Given the description of an element on the screen output the (x, y) to click on. 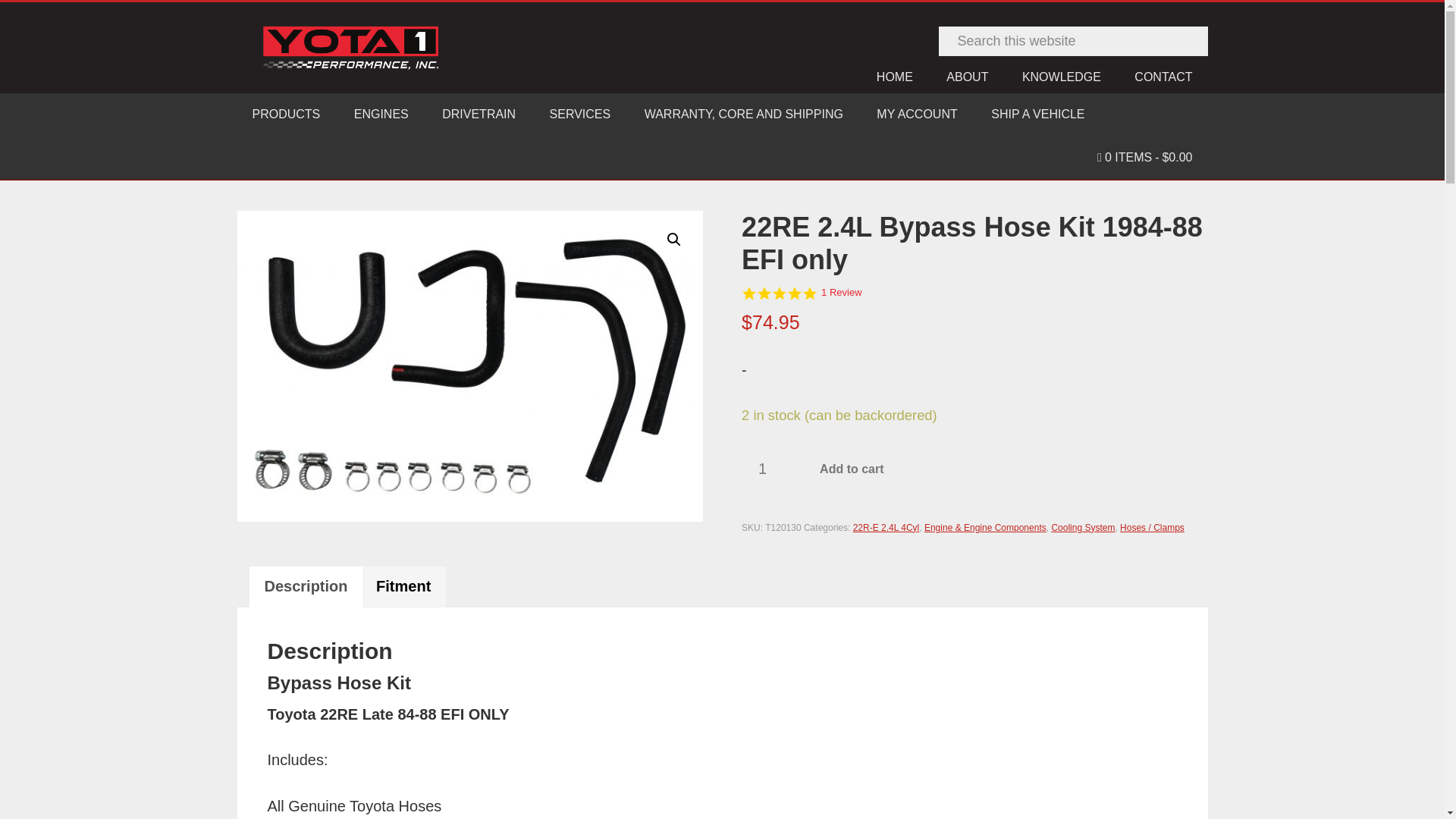
DRIVETRAIN (478, 114)
SERVICES (580, 114)
Description (305, 586)
Yota1 Performance, Inc. (349, 47)
22R-E 2.4L 4Cyl (886, 527)
MY ACCOUNT (916, 114)
WARRANTY, CORE AND SHIPPING (743, 114)
ENGINES (381, 114)
1 Review (841, 293)
KNOWLEDGE (1061, 77)
PRODUCTS (284, 114)
1 (767, 467)
Add to cart (851, 468)
Start shopping (1144, 157)
